Given the description of an element on the screen output the (x, y) to click on. 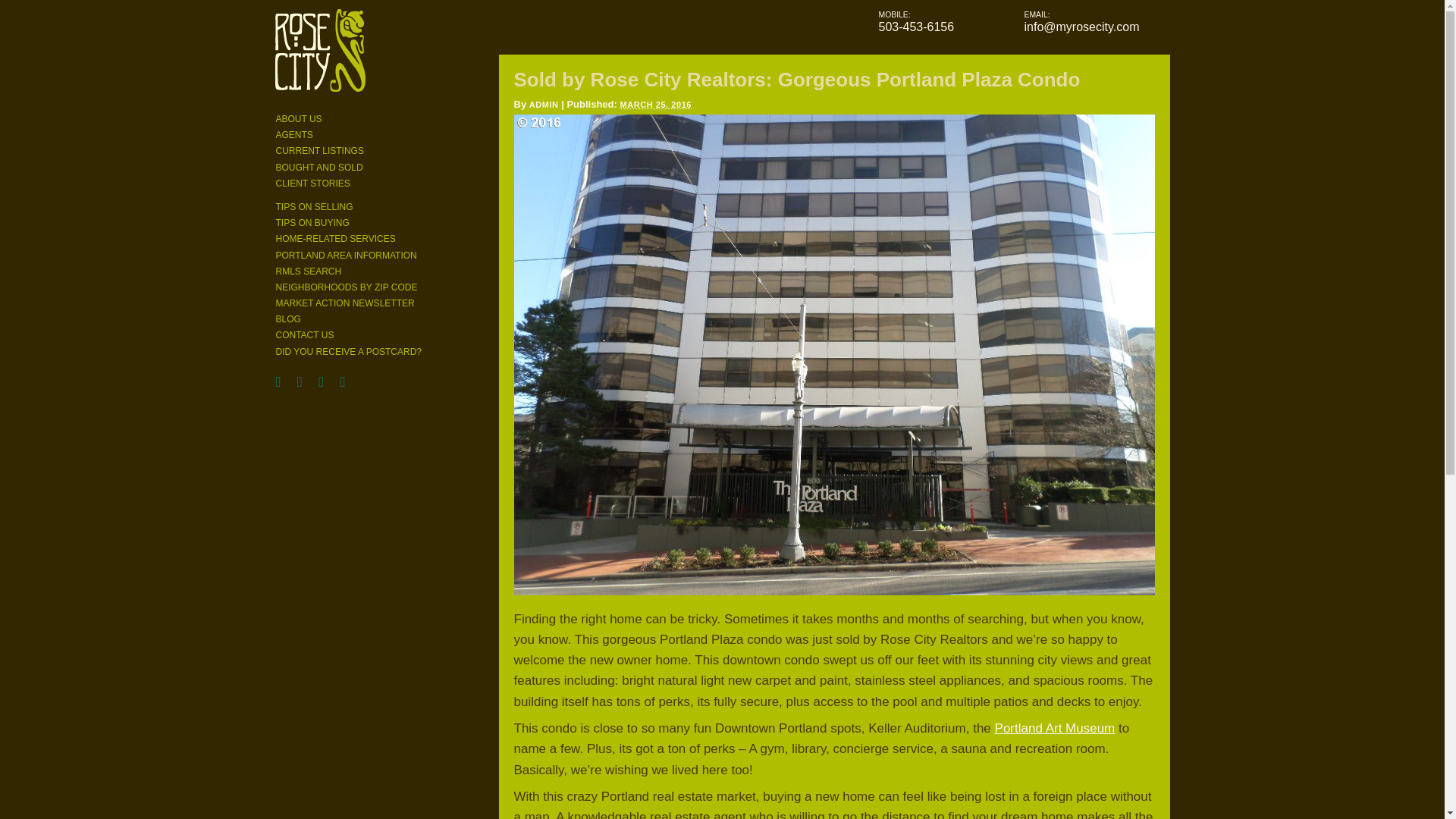
PORTLAND AREA INFORMATION (346, 255)
HOME-RELATED SERVICES (336, 238)
BOUGHT AND SOLD (319, 167)
Rose City (320, 55)
ABOUT US (298, 118)
TIPS ON SELLING (314, 206)
CLIENT STORIES (313, 183)
NEIGHBORHOODS BY ZIP CODE (346, 286)
BLOG (288, 318)
DID YOU RECEIVE A POSTCARD? (349, 351)
